Given the description of an element on the screen output the (x, y) to click on. 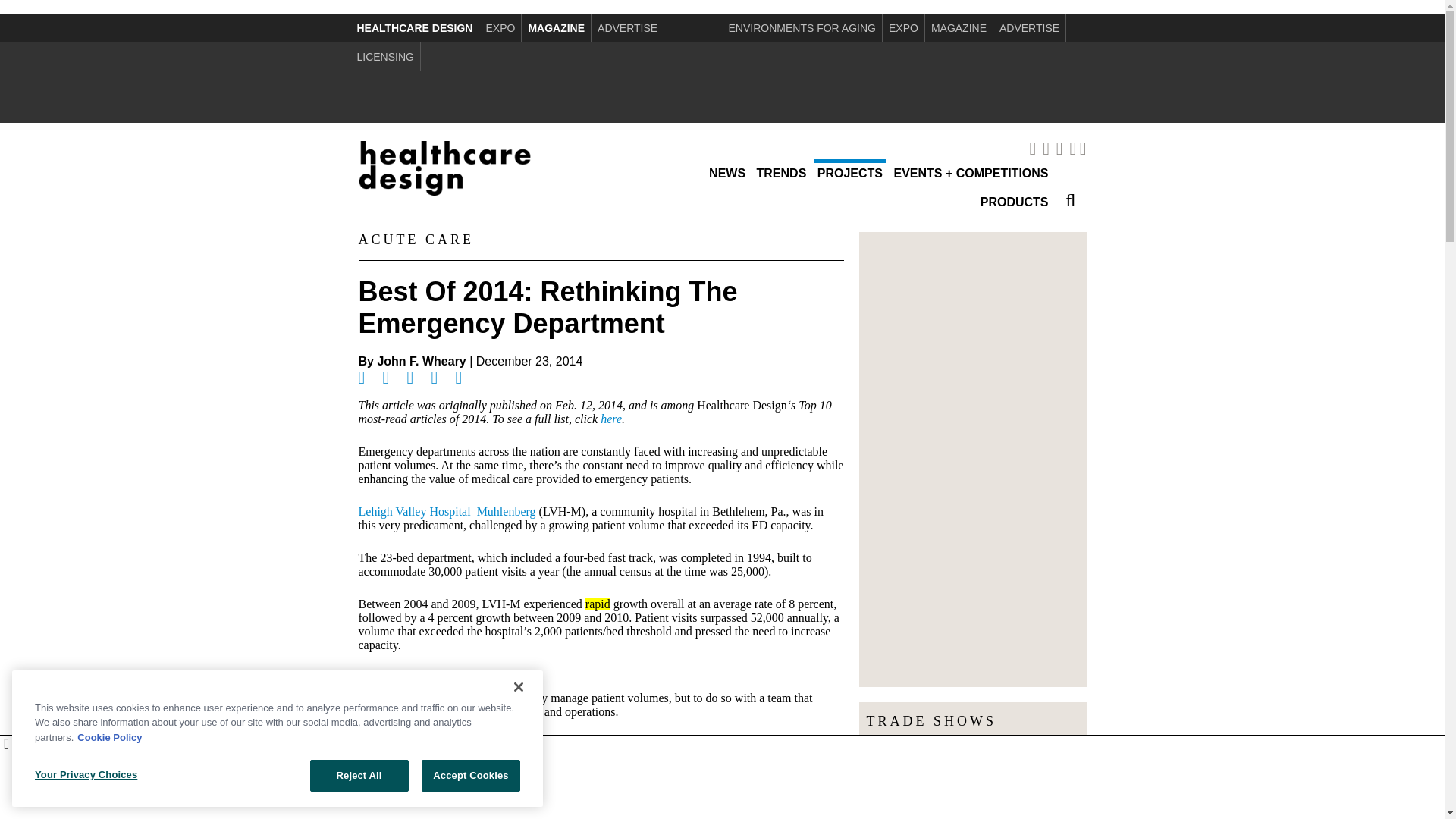
EXPO (903, 27)
3rd party ad content (722, 776)
NEWS (726, 173)
TRENDS (781, 173)
ADVERTISE (627, 27)
MAGAZINE (556, 27)
ADVERTISE (1028, 27)
EXPO (500, 27)
LICENSING (384, 56)
MAGAZINE (958, 27)
PROJECTS (849, 173)
3rd party ad content (721, 82)
